Given the description of an element on the screen output the (x, y) to click on. 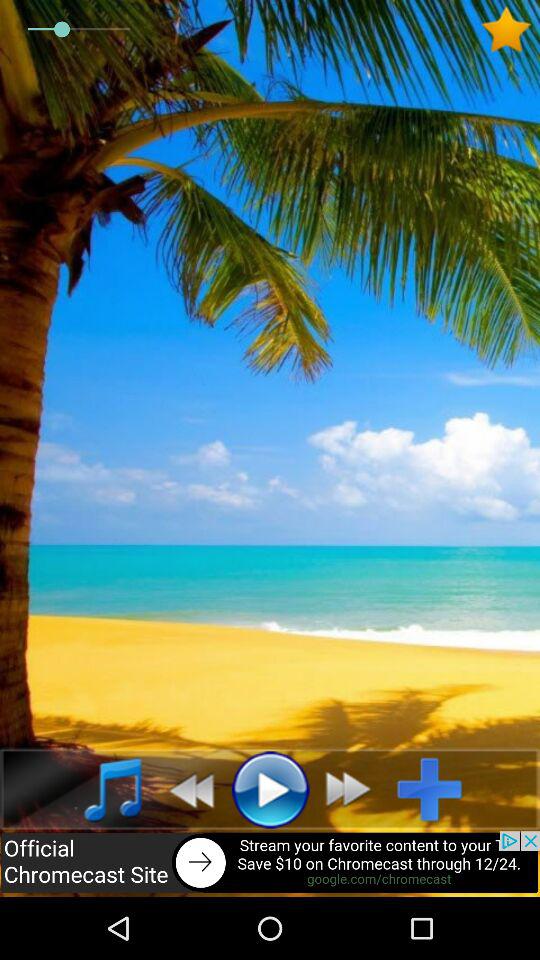
go to previous (186, 789)
